Given the description of an element on the screen output the (x, y) to click on. 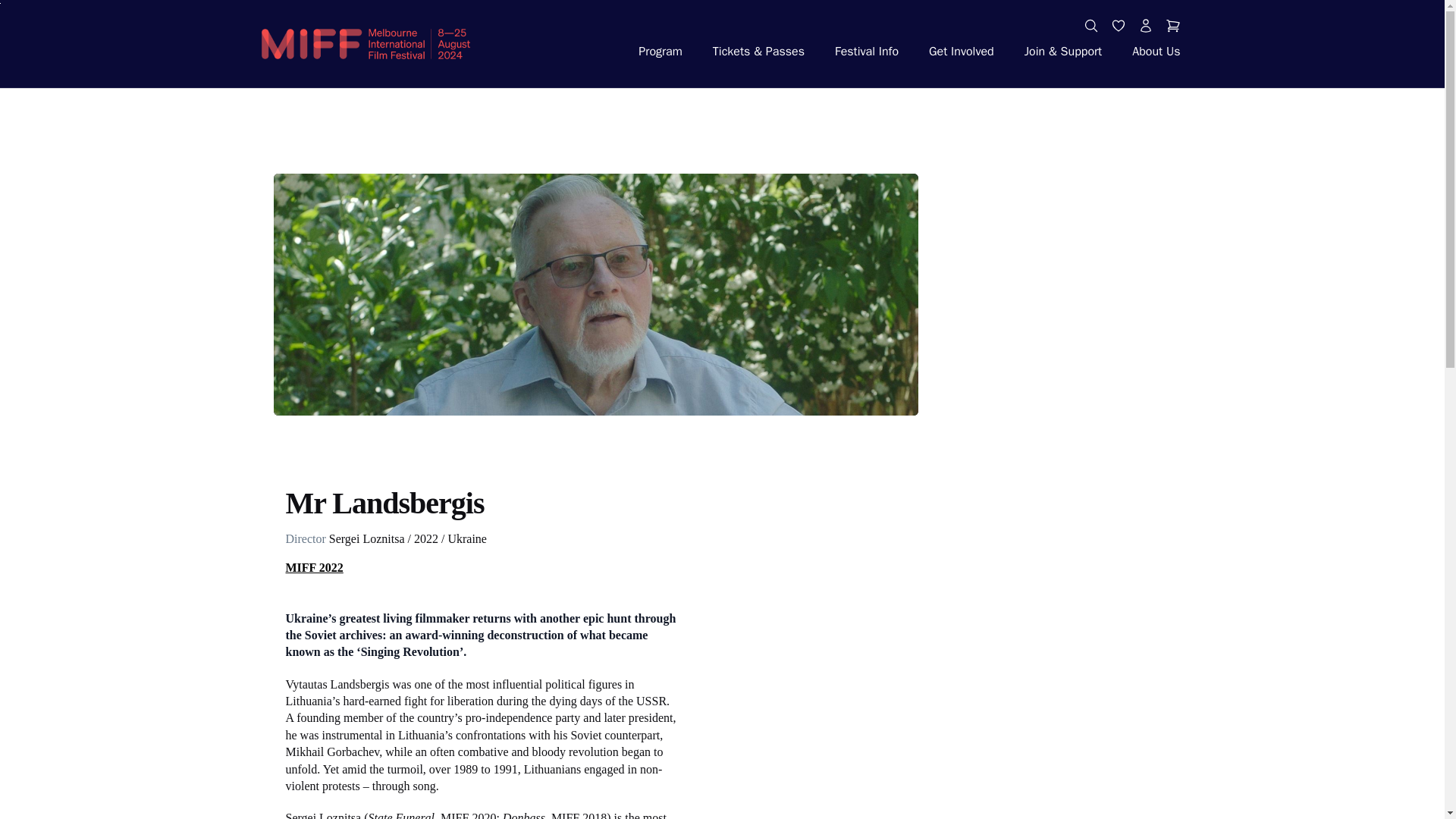
MIFF (366, 43)
